Given the description of an element on the screen output the (x, y) to click on. 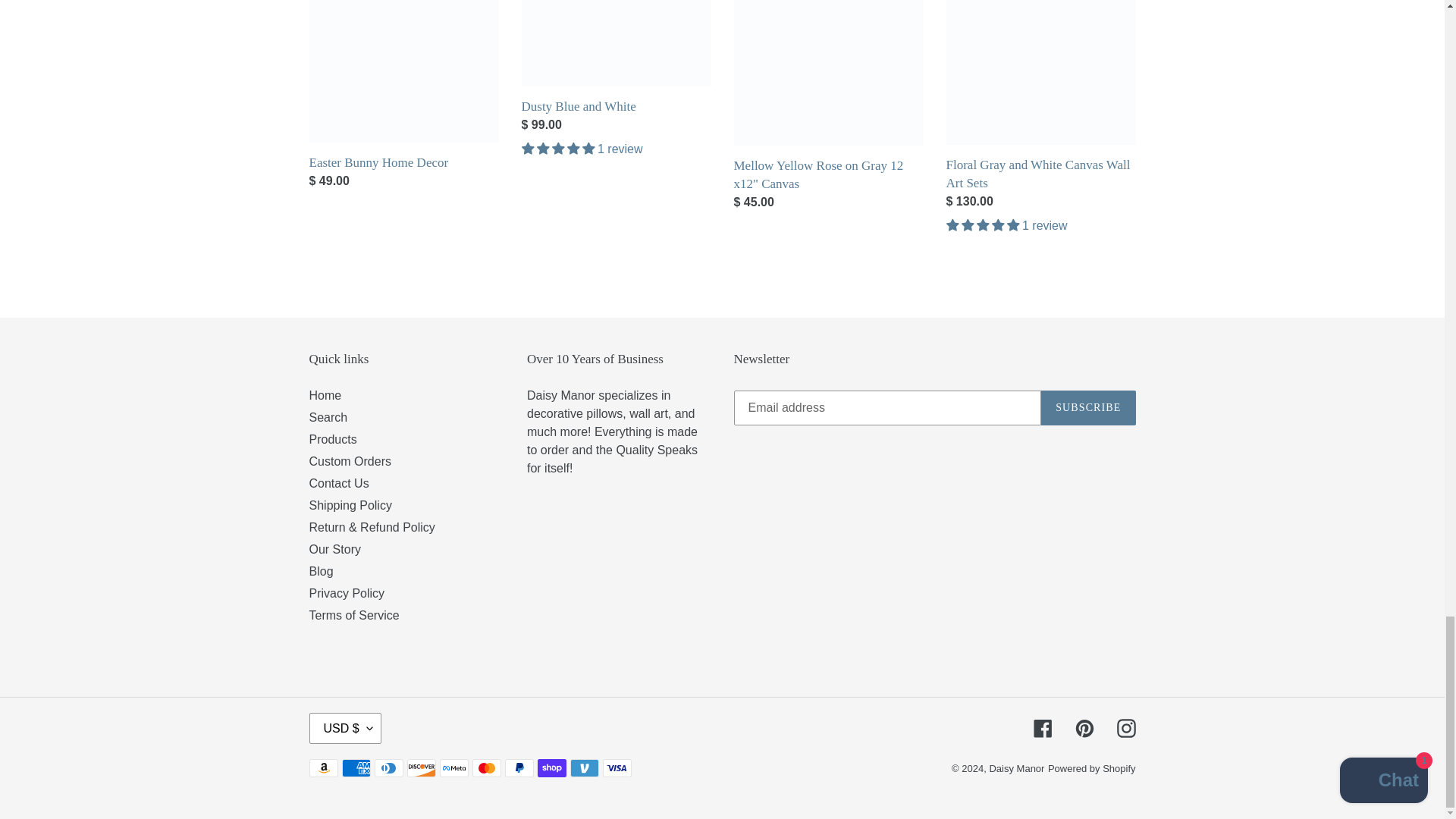
PayPal (519, 768)
Discover (420, 768)
Meta Pay (453, 768)
Shop Pay (551, 768)
Diners Club (388, 768)
American Express (354, 768)
Mastercard (485, 768)
Amazon (322, 768)
